Given the description of an element on the screen output the (x, y) to click on. 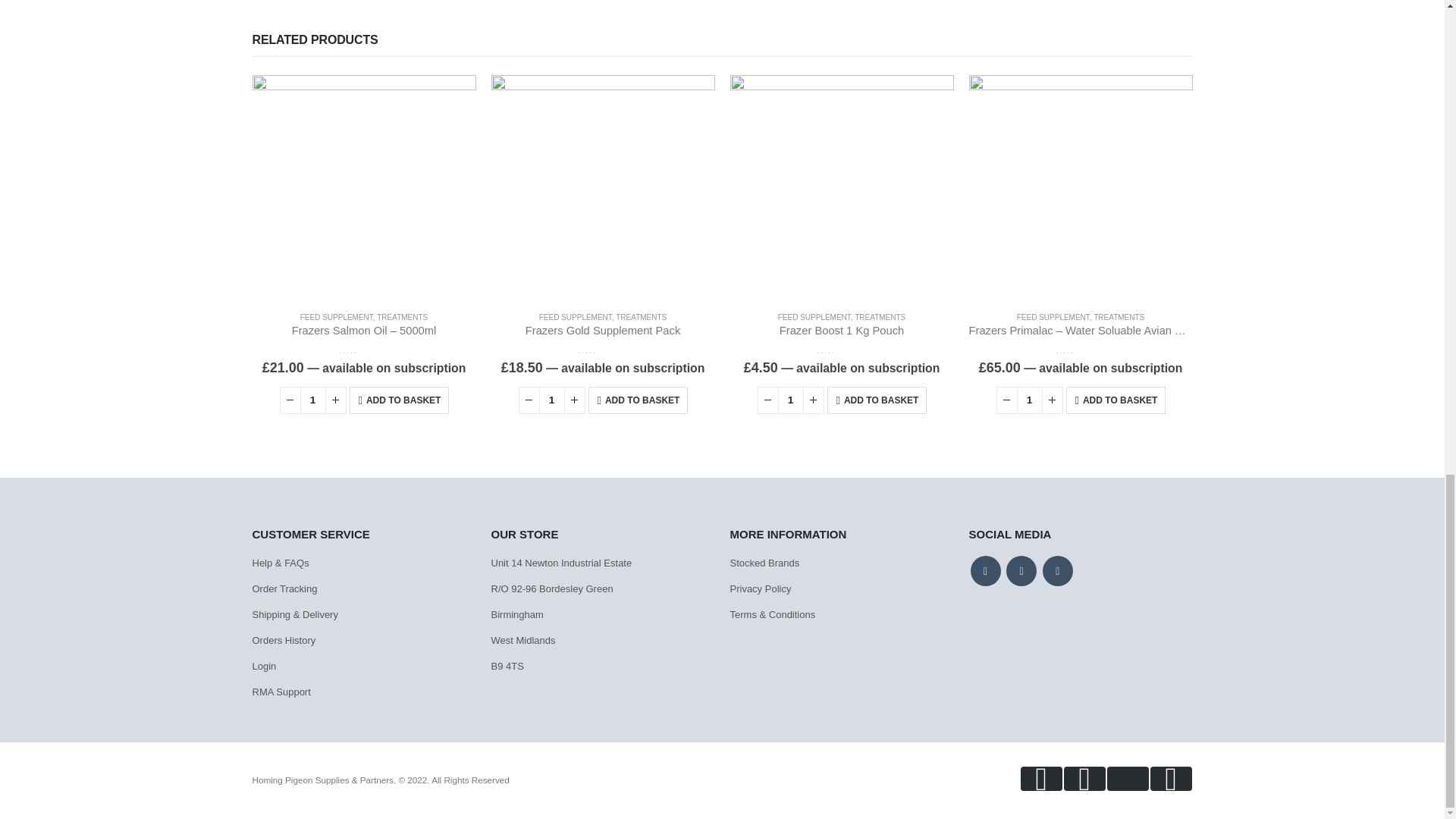
1 (312, 400)
1 (1029, 400)
1 (790, 400)
1 (551, 400)
